Given the description of an element on the screen output the (x, y) to click on. 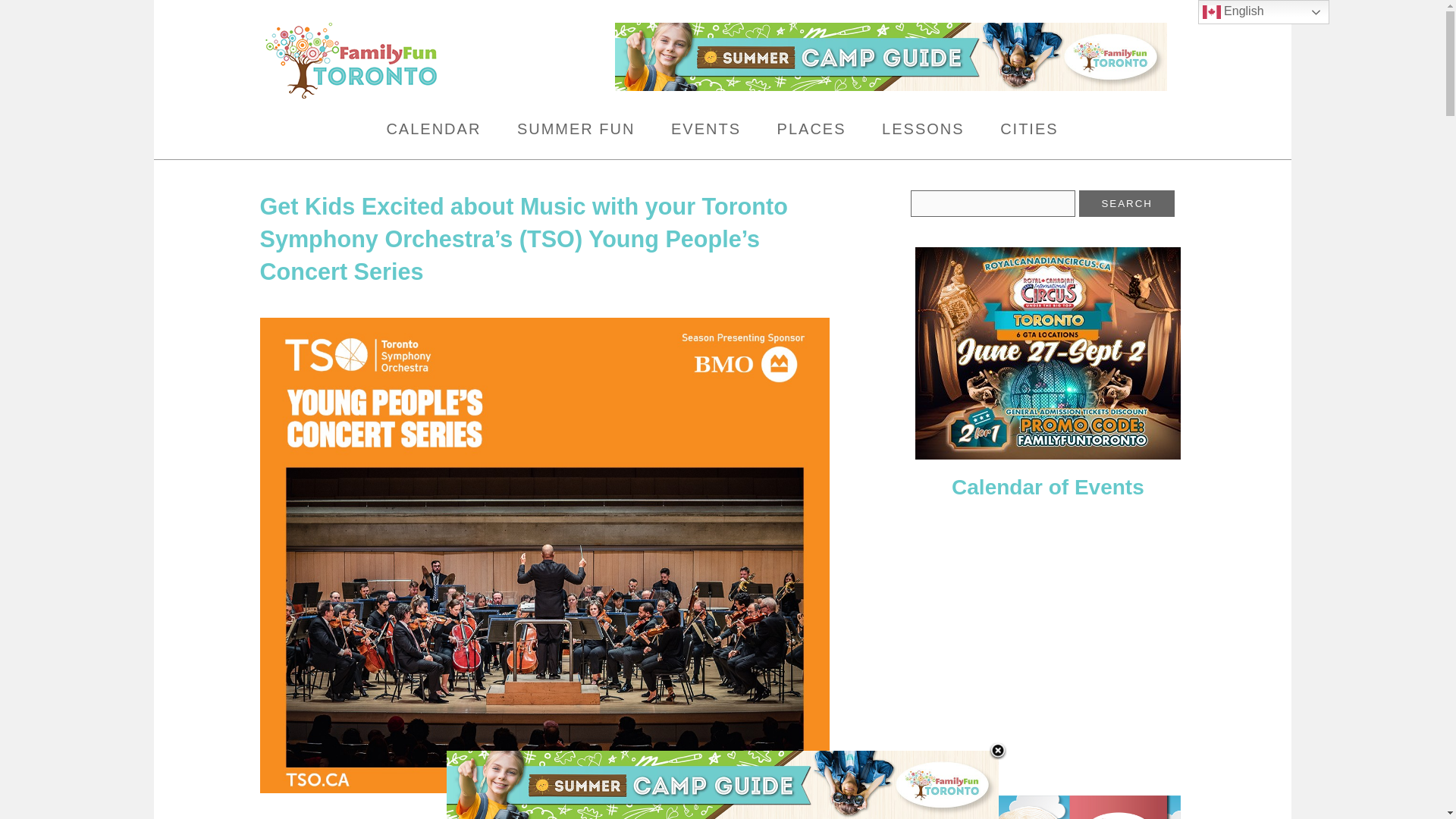
PLACES (811, 128)
EVENTS (706, 128)
CALENDAR (432, 128)
Back Home (425, 60)
SUMMER FUN (575, 128)
Search (1126, 203)
